Given the description of an element on the screen output the (x, y) to click on. 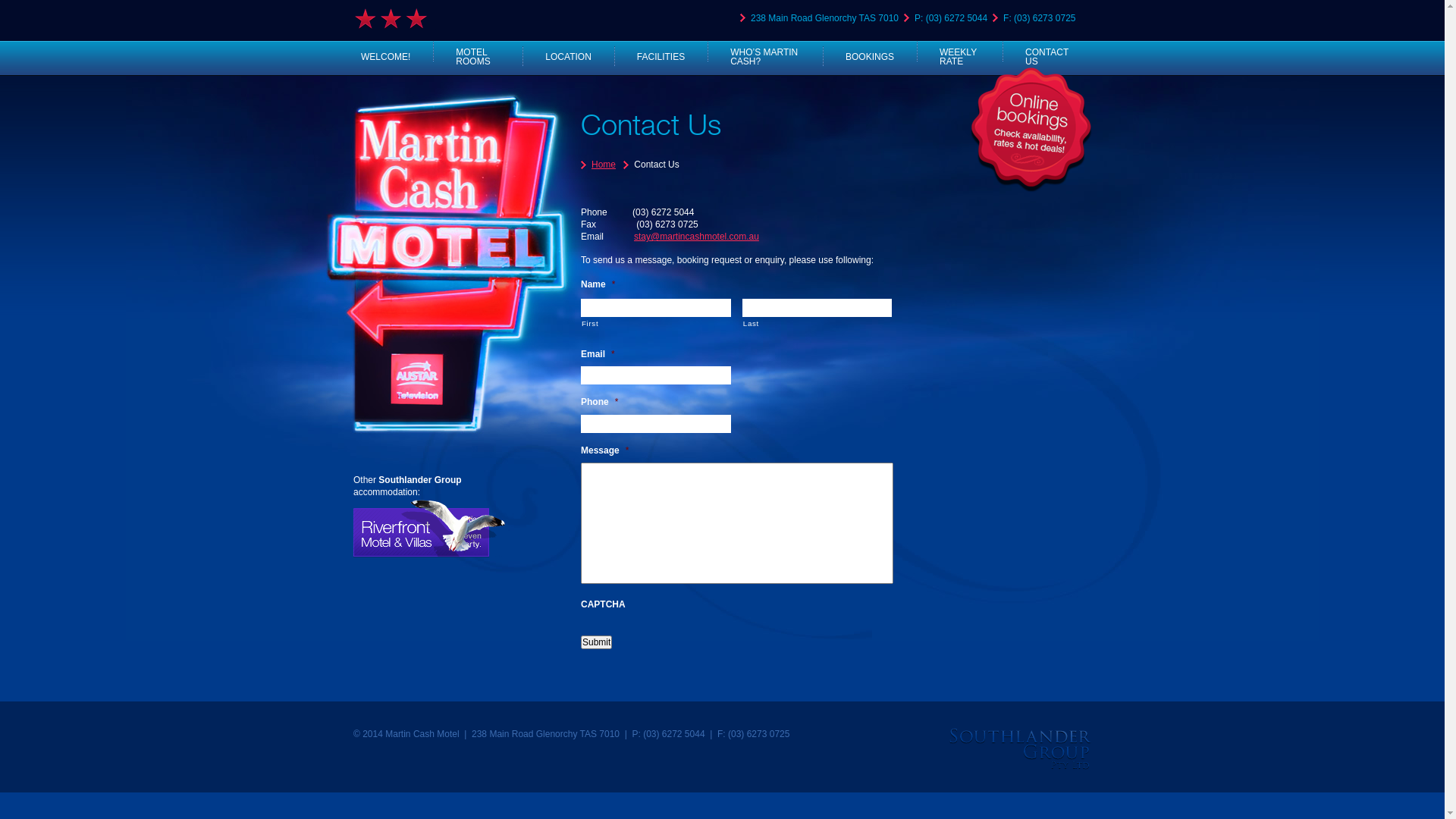
FACILITIES Element type: text (660, 56)
Martin Cash Motel Element type: text (444, 263)
stay@martincashmotel.com.au Element type: text (696, 236)
CONTACT US Element type: text (1046, 56)
MOTEL ROOMS Element type: text (477, 56)
BOOKINGS Element type: text (869, 56)
Online Bookings. Check availability, deals and hot rates. Element type: text (1031, 129)
Home Element type: text (597, 164)
WEEKLY RATE Element type: text (959, 56)
LOCATION Element type: text (567, 56)
Seagull Element type: text (429, 529)
WELCOME! Element type: text (393, 56)
Submit Element type: text (595, 642)
